Given the description of an element on the screen output the (x, y) to click on. 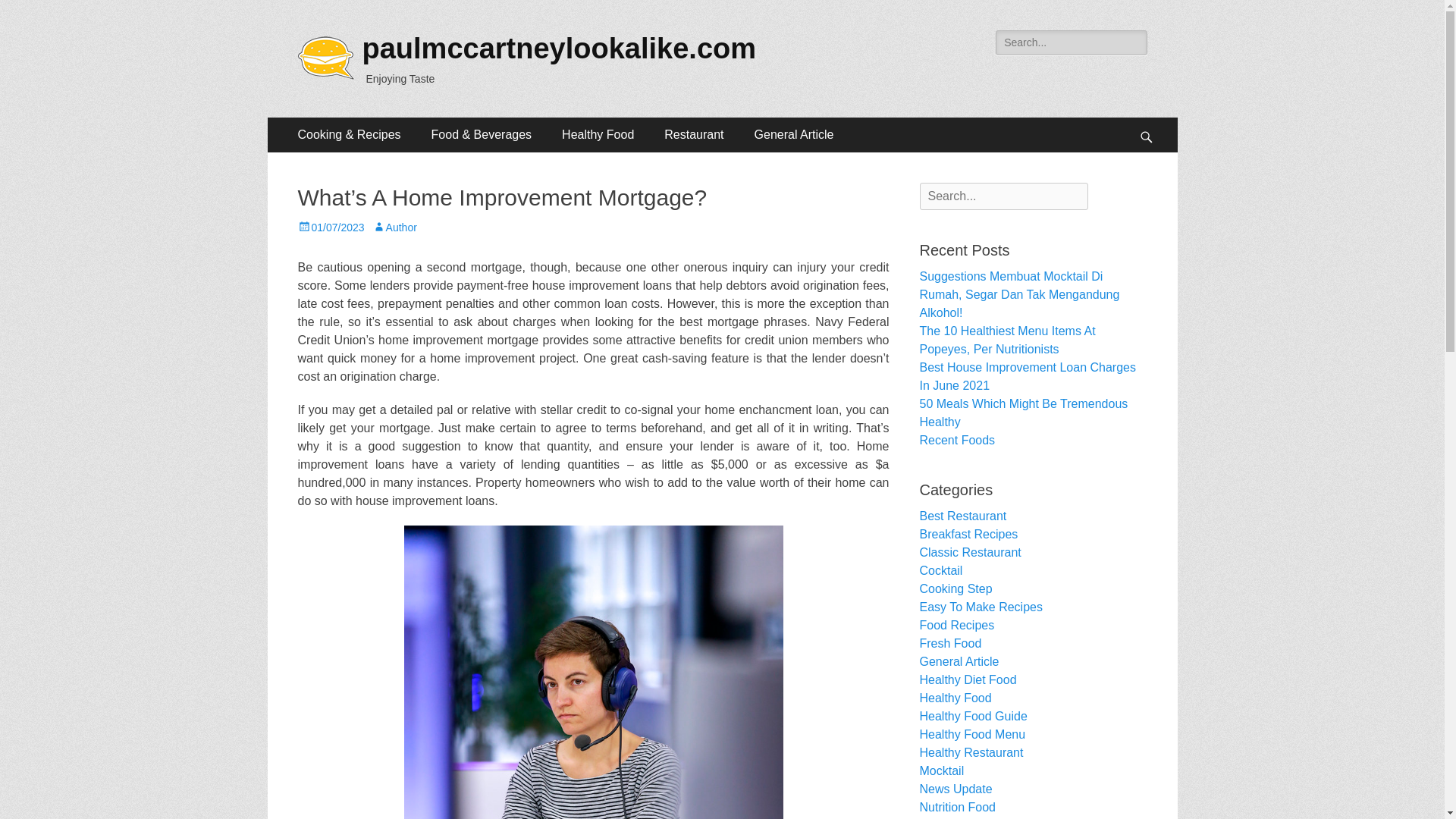
Restaurant (693, 134)
Search for: (1002, 195)
Healthy Food (598, 134)
General Article (793, 134)
paulmccartneylookalike.com (559, 48)
Search for: (1071, 42)
Author (394, 227)
Search (33, 13)
